Given the description of an element on the screen output the (x, y) to click on. 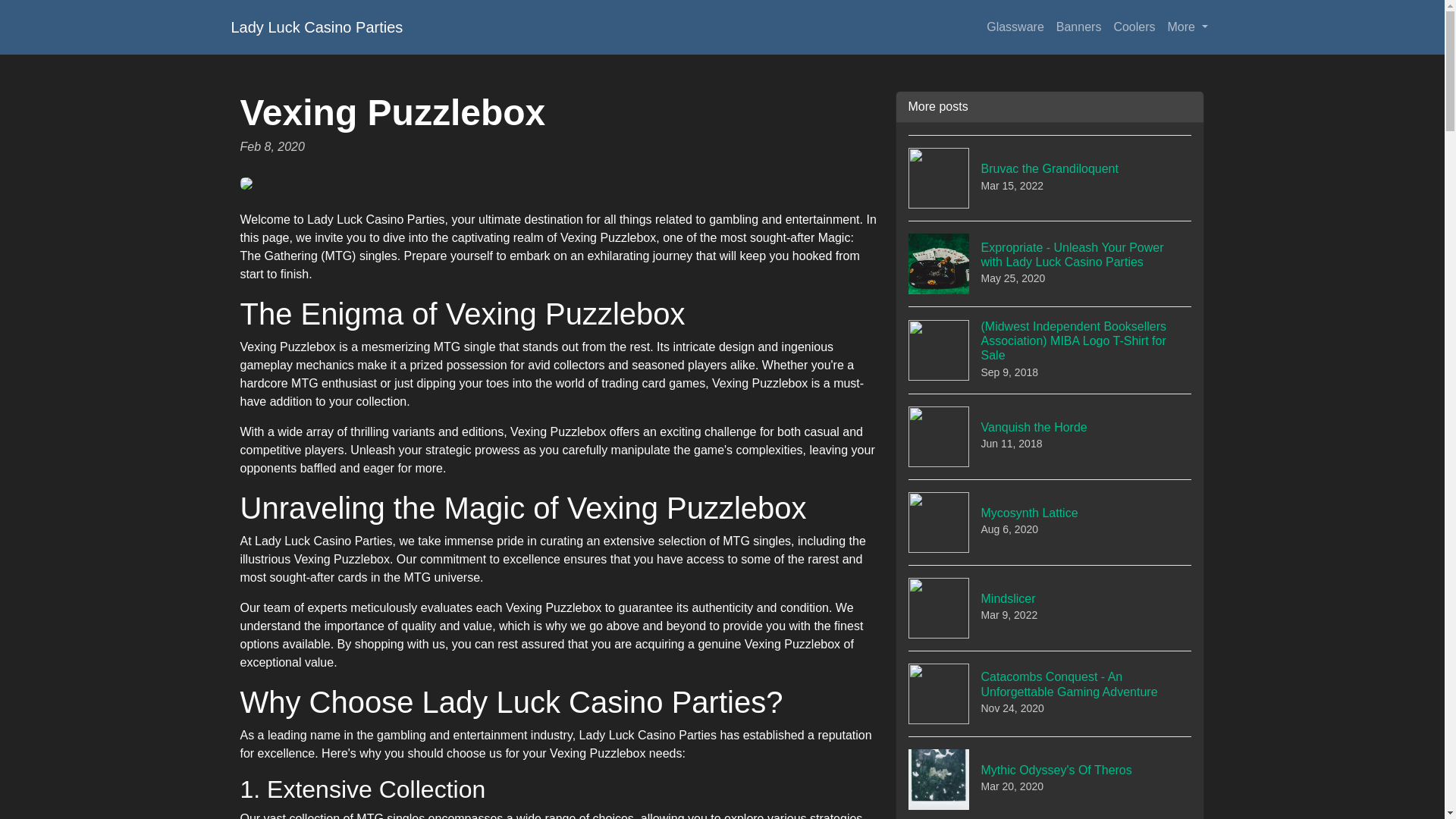
Glassware (1050, 777)
Banners (1050, 436)
Lady Luck Casino Parties (1014, 27)
More (1078, 27)
Coolers (316, 27)
